Given the description of an element on the screen output the (x, y) to click on. 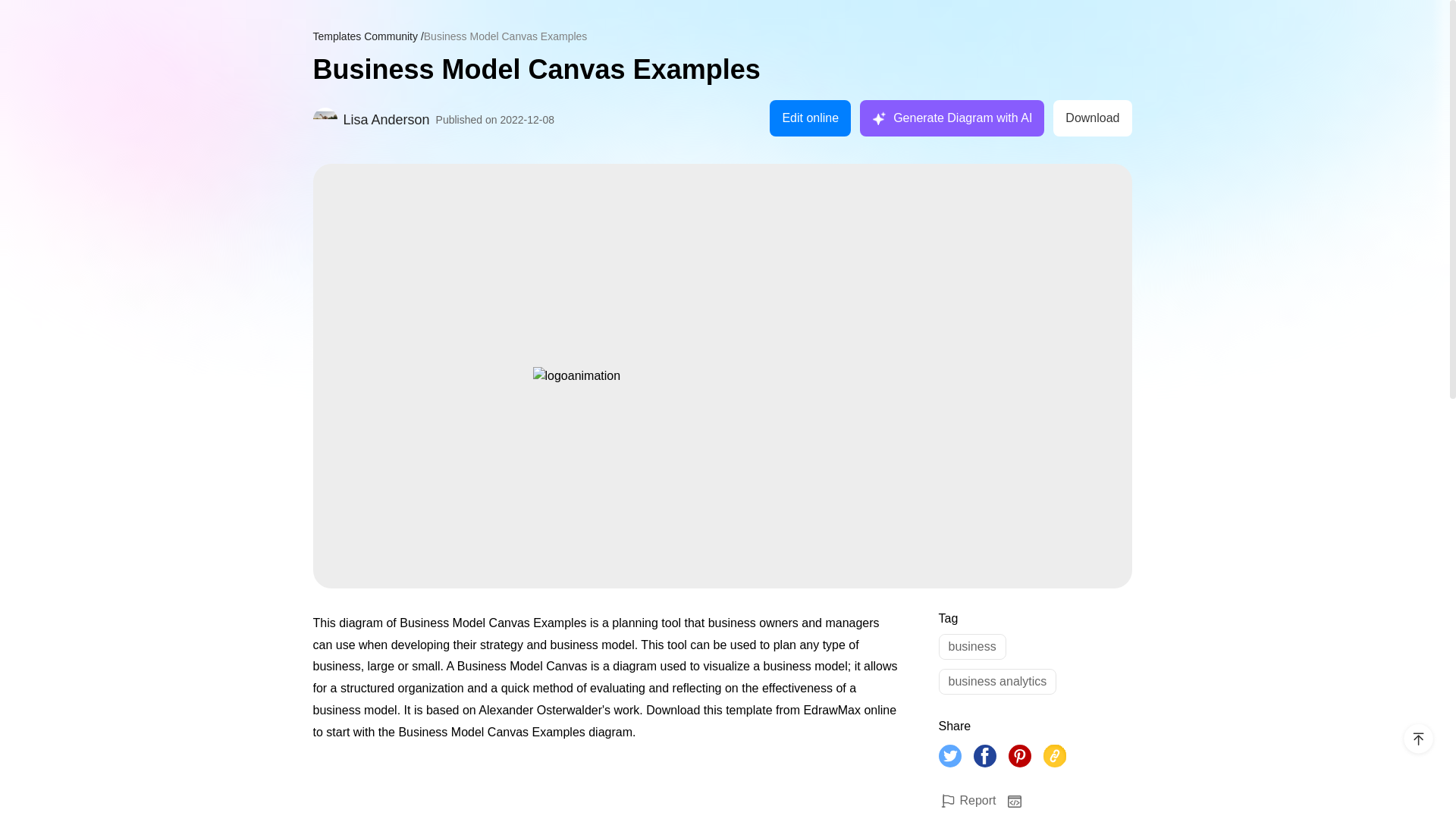
business (972, 646)
business analytics (998, 681)
Download (1091, 117)
Business Model Canvas Examples (722, 69)
